Given the description of an element on the screen output the (x, y) to click on. 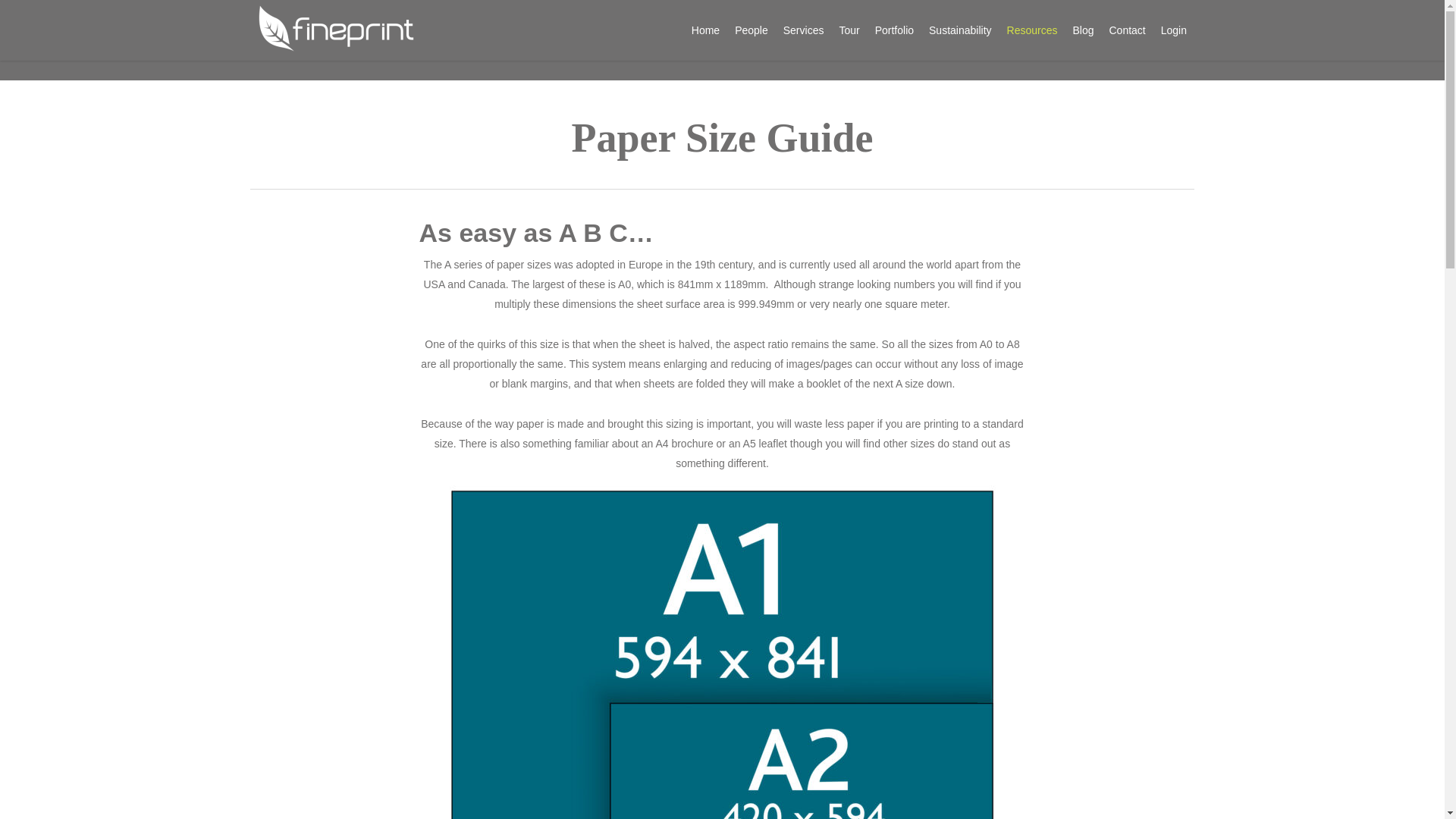
Services (803, 29)
Resources (1031, 29)
Contact (1126, 29)
Login (1173, 29)
Portfolio (894, 29)
Blog (1082, 29)
Tour (848, 29)
Sustainability (959, 29)
People (751, 29)
Home (705, 29)
